Given the description of an element on the screen output the (x, y) to click on. 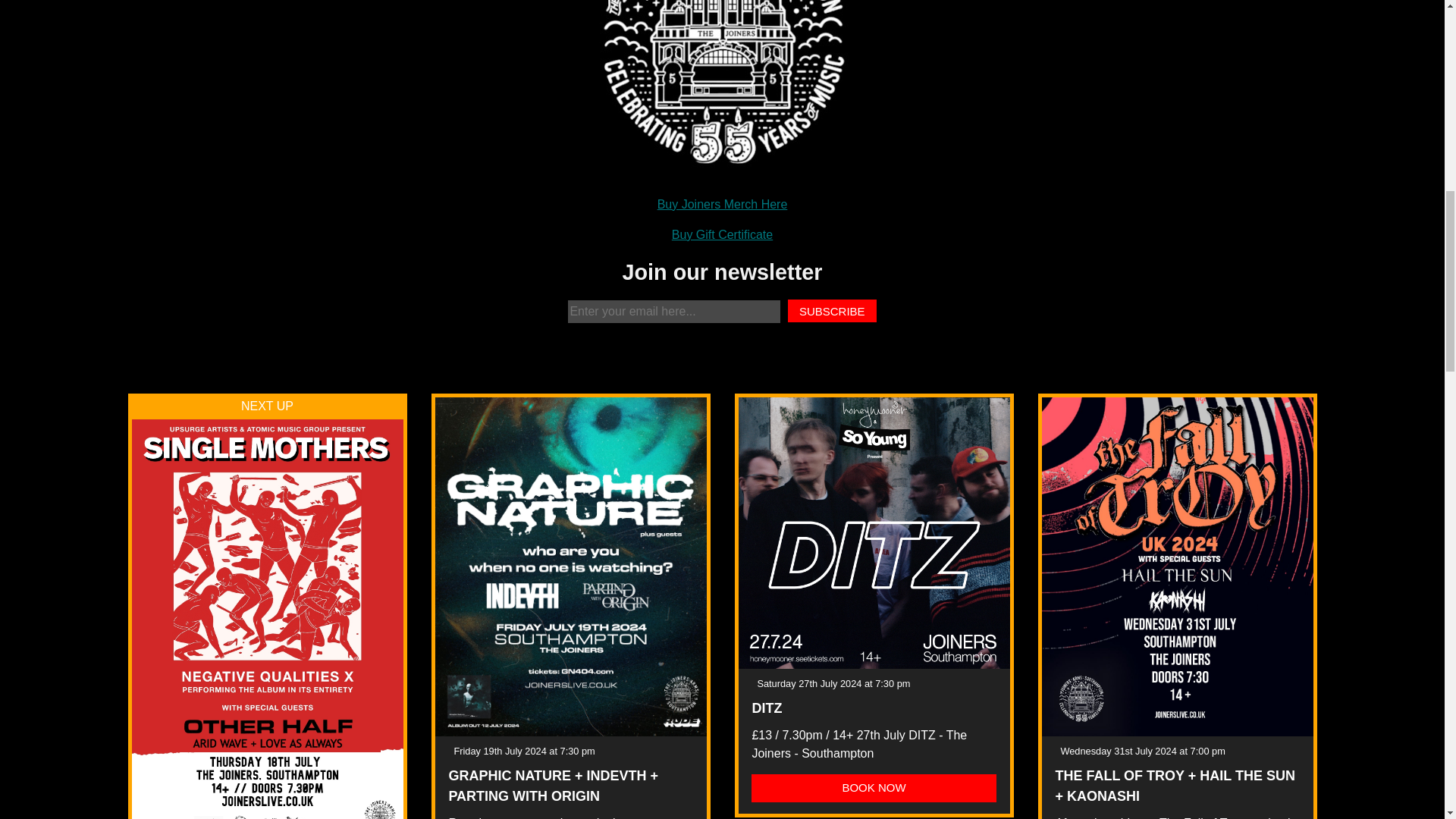
Buy Gift Certificate (722, 234)
Buy Joiners Merch Here (722, 204)
BOOK NOW (873, 788)
SUBSCRIBE (831, 310)
Gift Certificate (722, 234)
